Given the description of an element on the screen output the (x, y) to click on. 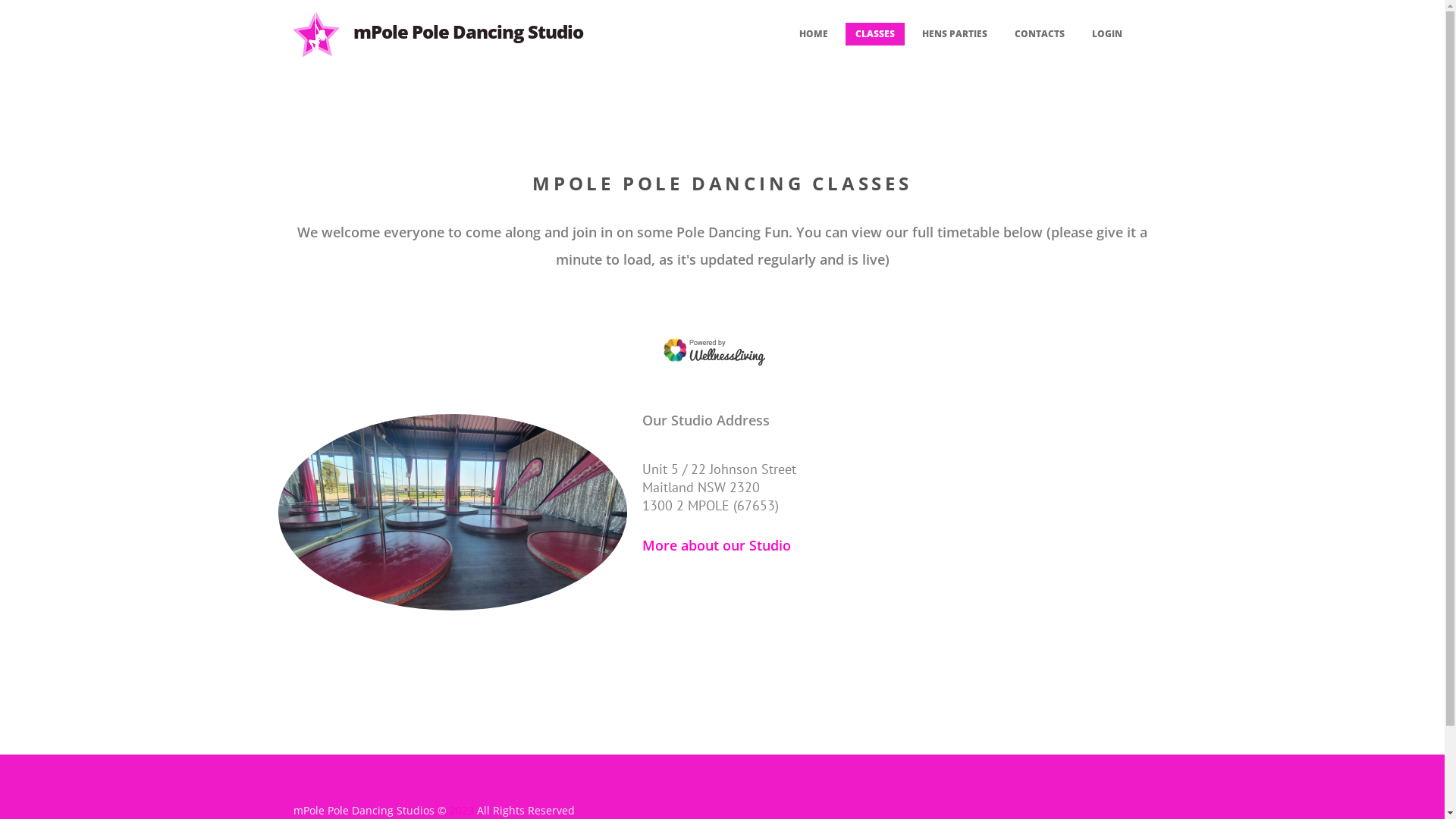
HENS PARTIES Element type: text (953, 33)
CONTACTS Element type: text (1038, 33)
HOME Element type: text (812, 33)
LOGIN Element type: text (1106, 33)
mPole Pole Dancing Studio Element type: text (468, 30)
CLASSES Element type: text (873, 33)
More about our Studio Element type: text (715, 545)
